Given the description of an element on the screen output the (x, y) to click on. 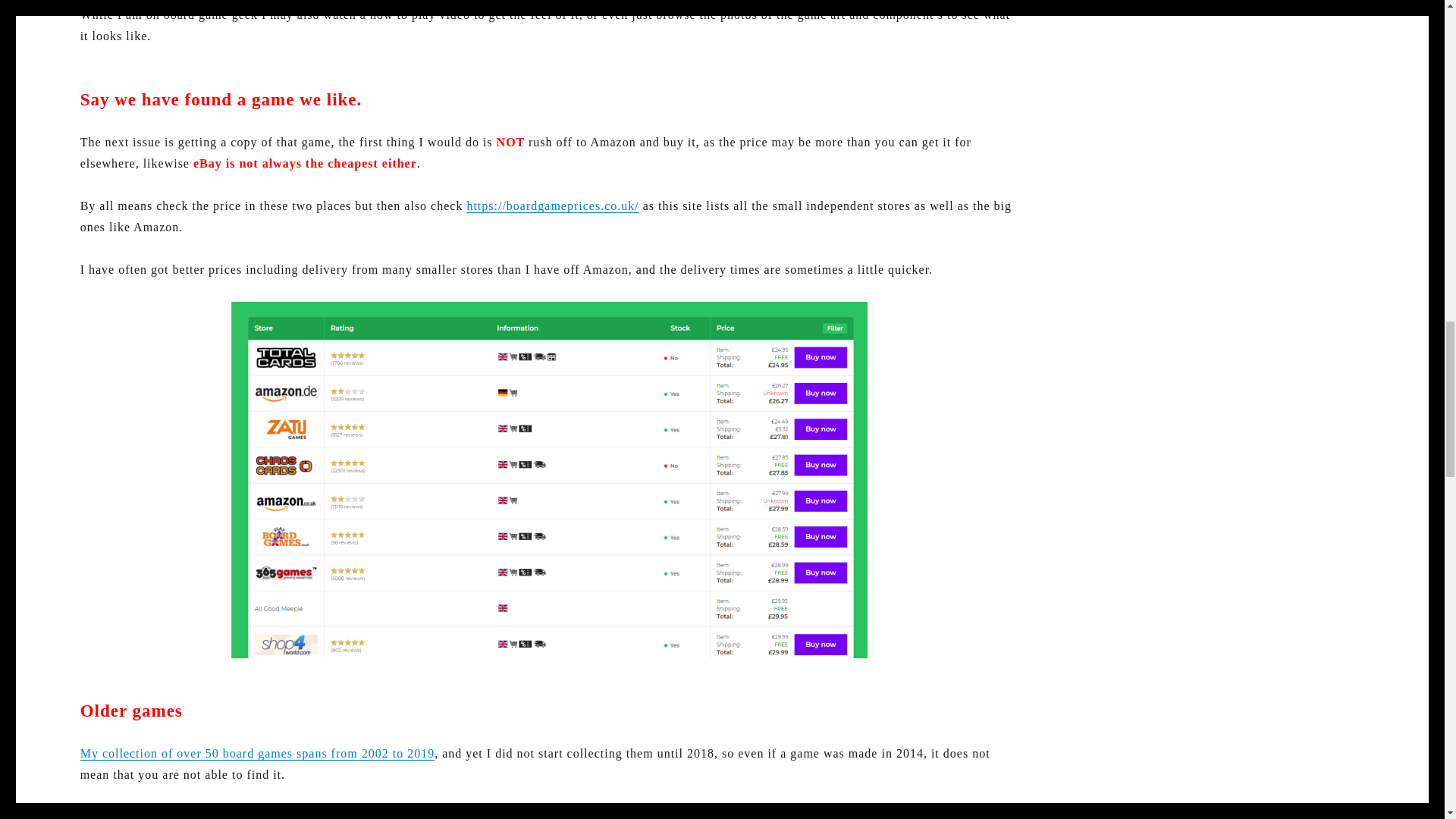
My collection of over 50 board games spans from 2002 to 2019 (256, 753)
